Given the description of an element on the screen output the (x, y) to click on. 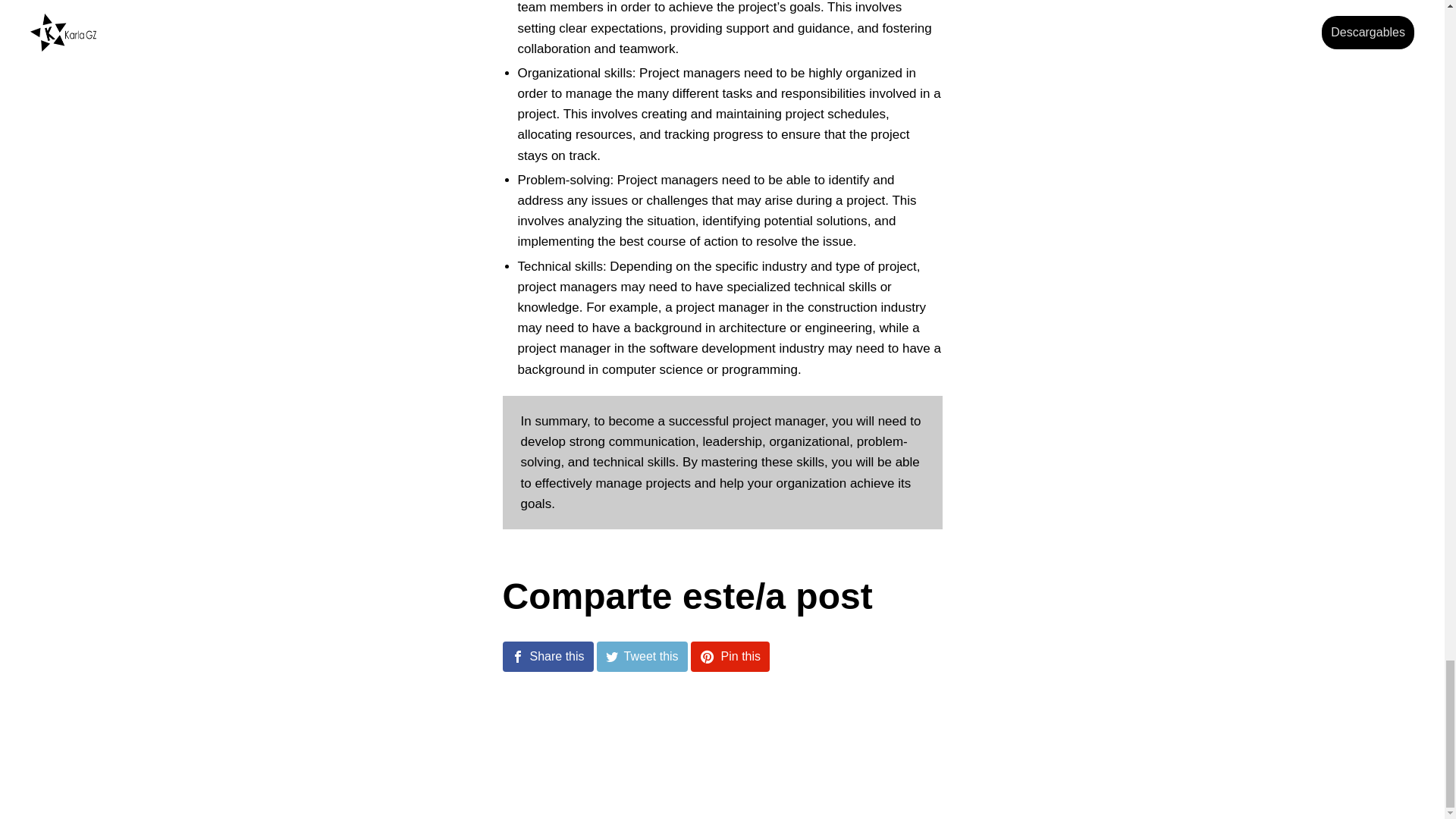
Tweet this (641, 655)
Share this (547, 655)
Pin this (730, 655)
karlagz.com (741, 775)
